Given the description of an element on the screen output the (x, y) to click on. 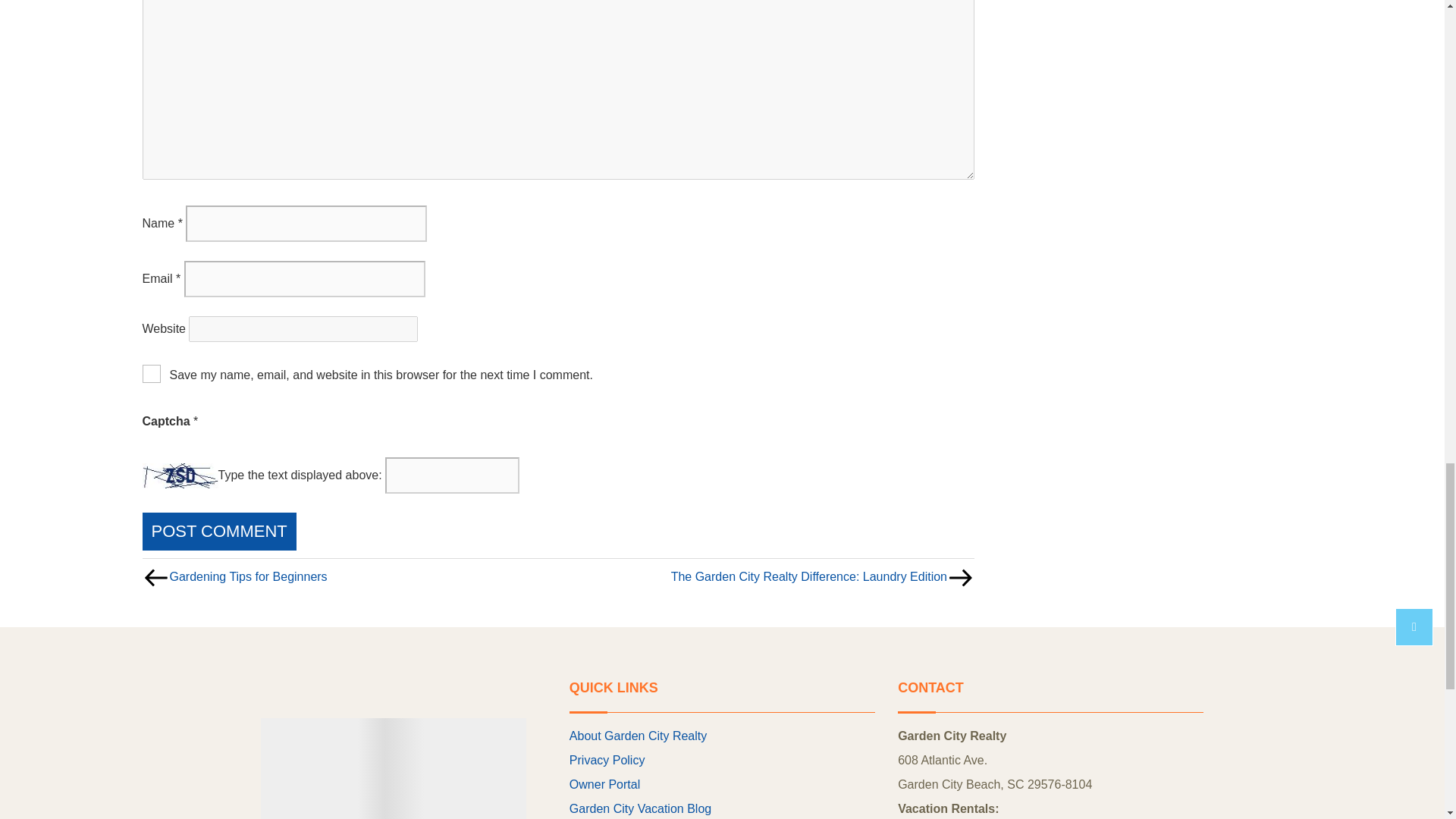
Post Comment (219, 531)
